Given the description of an element on the screen output the (x, y) to click on. 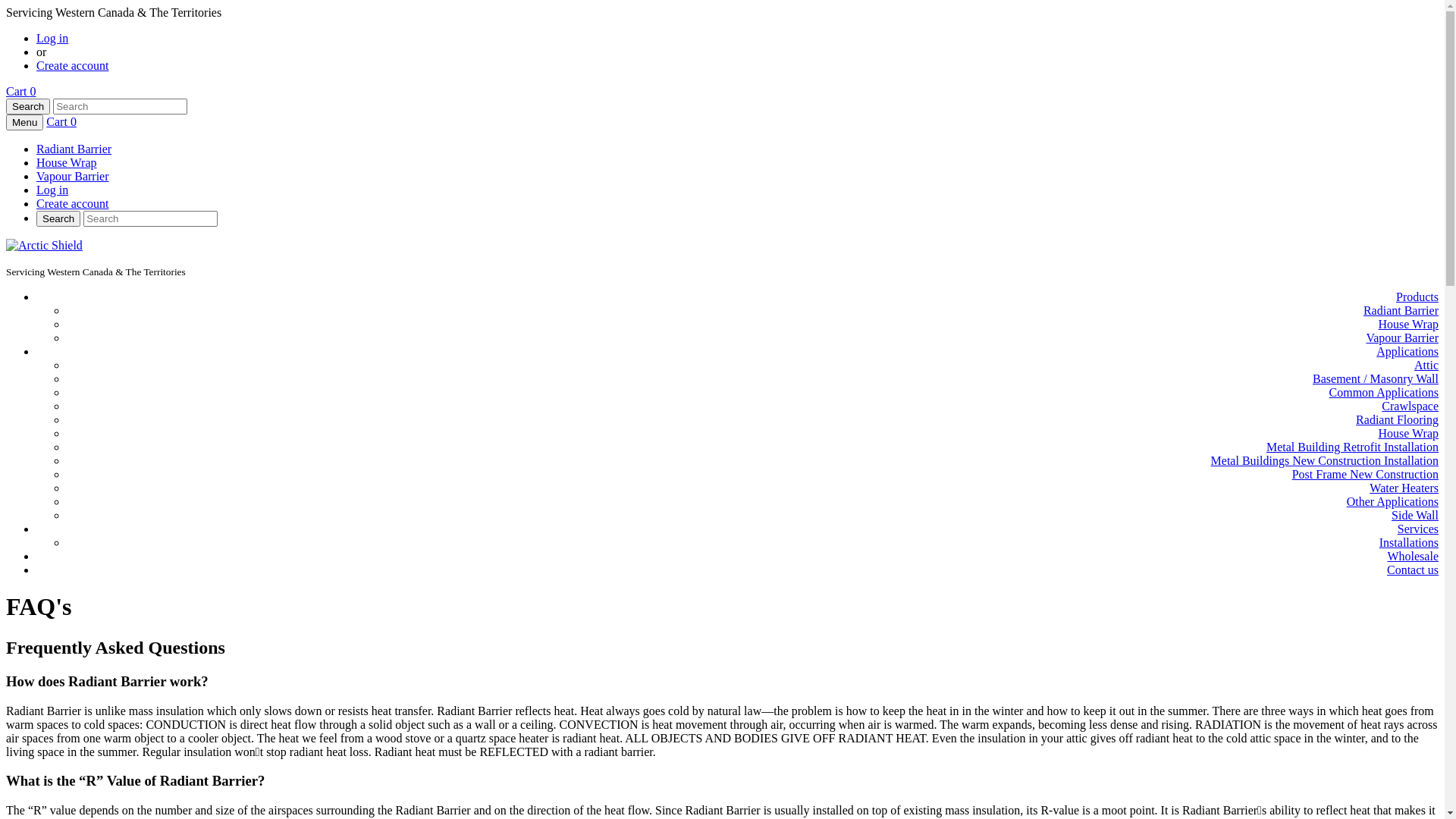
Applications Element type: text (1407, 351)
Radiant Flooring Element type: text (1396, 419)
Side Wall Element type: text (1414, 514)
Attic Element type: text (1426, 364)
Metal Buildings New Construction Installation Element type: text (1324, 460)
Radiant Barrier Element type: text (1400, 310)
Search Element type: text (58, 218)
House Wrap Element type: text (1408, 323)
Create account Element type: text (72, 65)
Vapour Barrier Element type: text (72, 175)
Cart 0 Element type: text (61, 121)
Vapour Barrier Element type: text (1401, 337)
Products Element type: text (1417, 296)
House Wrap Element type: text (66, 162)
Search Element type: text (28, 106)
Metal Building Retrofit Installation Element type: text (1352, 446)
Radiant Barrier Element type: text (73, 148)
Installations Element type: text (1408, 542)
House Wrap Element type: text (1408, 432)
Post Frame New Construction Element type: text (1365, 473)
Wholesale Element type: text (1412, 555)
Common Applications Element type: text (1383, 391)
Other Applications Element type: text (1392, 501)
Basement / Masonry Wall Element type: text (1375, 378)
Log in Element type: text (52, 189)
Water Heaters Element type: text (1403, 487)
Services Element type: text (1417, 528)
Contact us Element type: text (1412, 569)
Cart 0 Element type: text (21, 90)
Log in Element type: text (52, 37)
Crawlspace Element type: text (1409, 405)
Create account Element type: text (72, 203)
Menu Element type: text (24, 122)
